Given the description of an element on the screen output the (x, y) to click on. 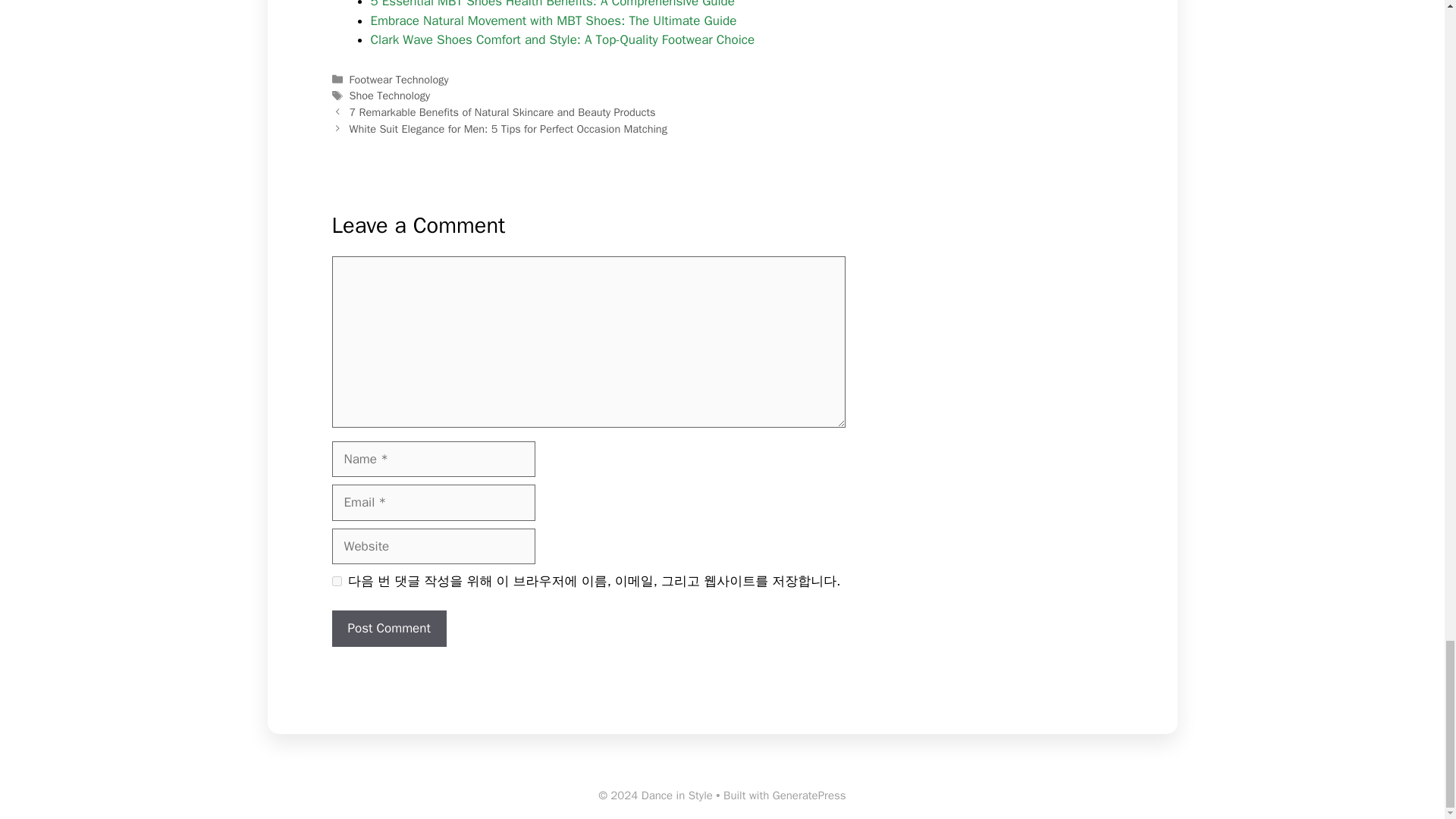
5 Essential MBT Shoes Health Benefits: A Comprehensive Guide (551, 4)
yes (336, 581)
Post Comment (388, 628)
Footwear Technology (398, 79)
Embrace Natural Movement with MBT Shoes: The Ultimate Guide (552, 20)
Shoe Technology (389, 95)
Post Comment (388, 628)
